Given the description of an element on the screen output the (x, y) to click on. 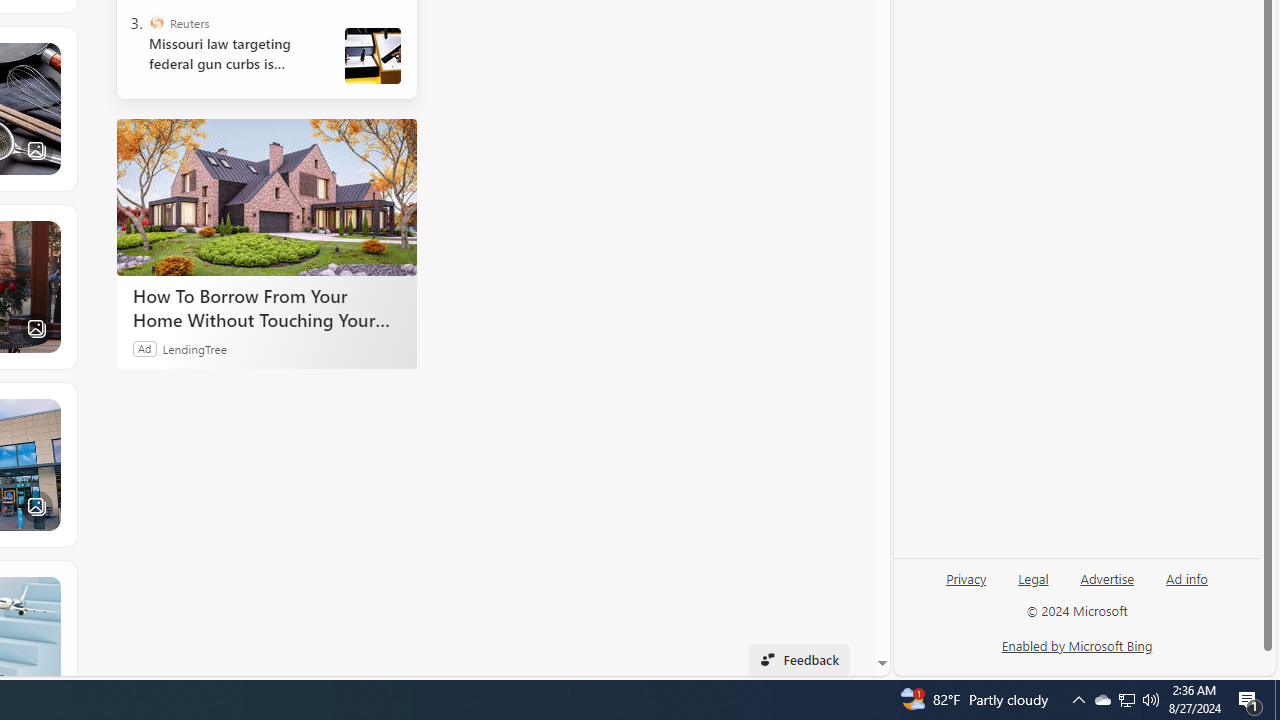
Ad (145, 348)
Ad info (1187, 577)
Legal (1033, 577)
Advertise (1106, 586)
How To Borrow From Your Home Without Touching Your Mortgage (266, 307)
How To Borrow From Your Home Without Touching Your Mortgage (266, 196)
See more (47, 590)
LendingTree (194, 348)
Legal (1033, 586)
Ad info (1186, 586)
Feedback (798, 659)
Advertise (1107, 577)
